Given the description of an element on the screen output the (x, y) to click on. 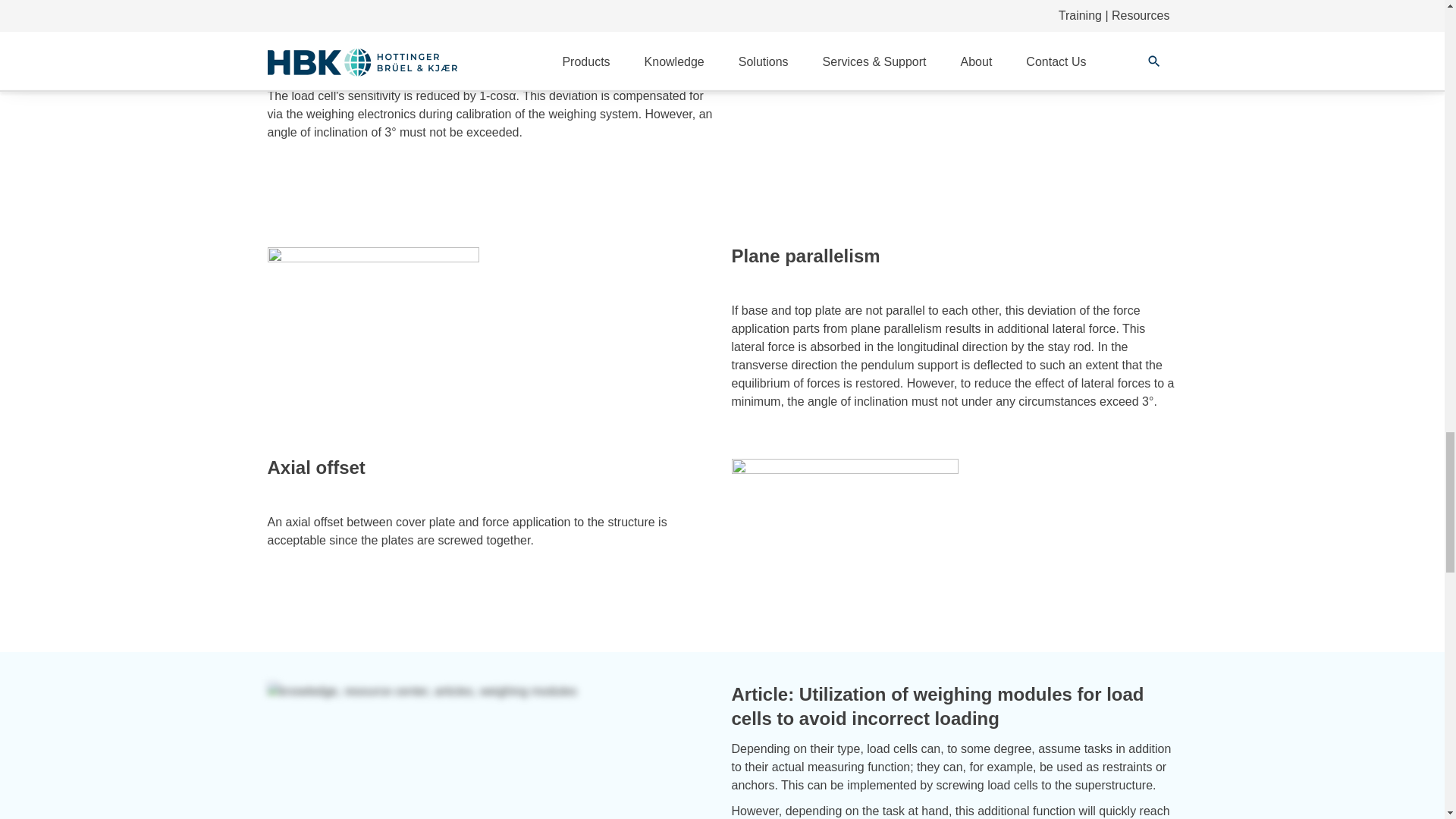
art pdf en weighing3 (489, 691)
